Given the description of an element on the screen output the (x, y) to click on. 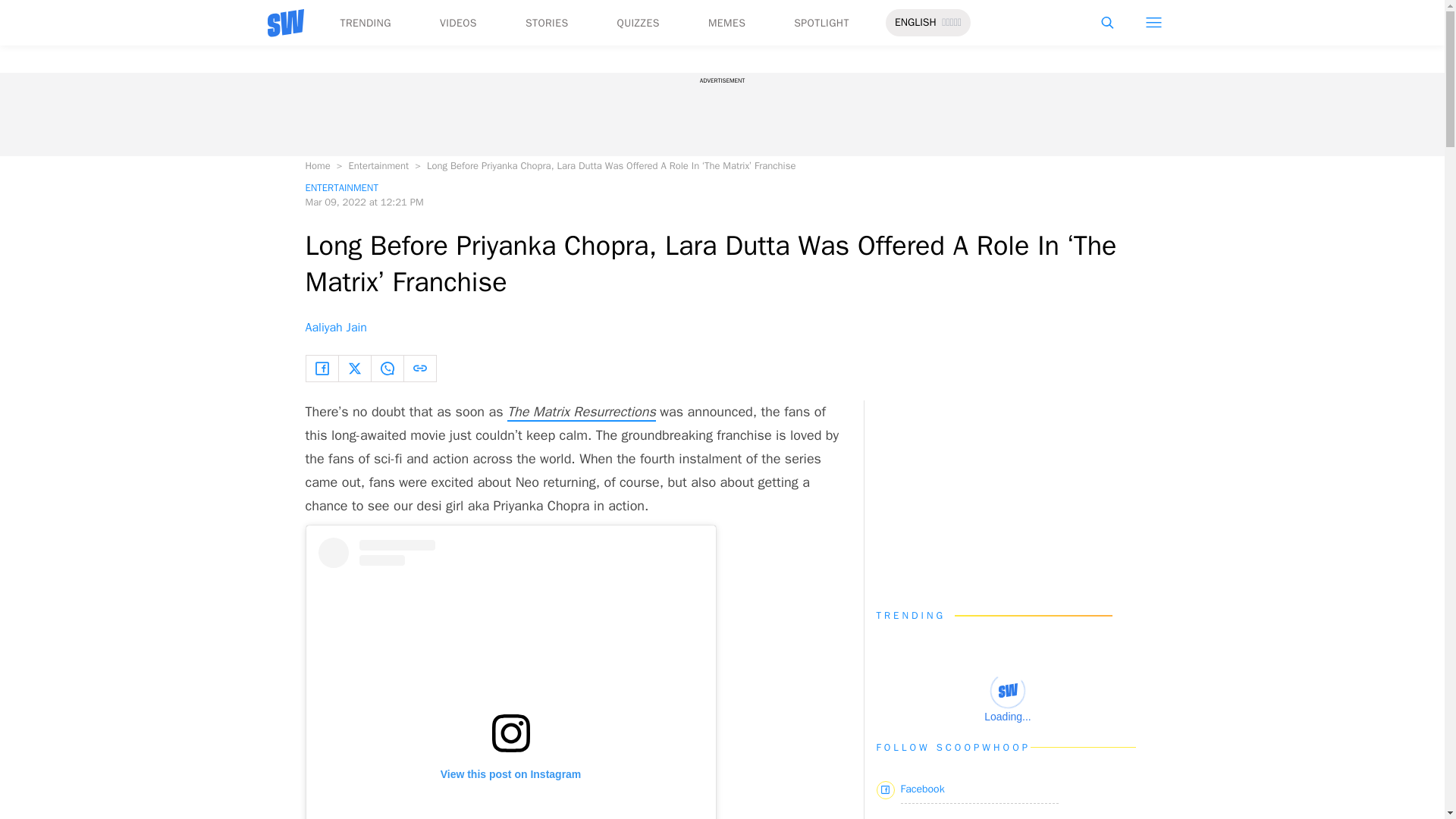
ENGLISH (915, 22)
STORIES (547, 22)
SPOTLIGHT (820, 22)
MEMES (726, 22)
QUIZZES (638, 22)
VIDEOS (458, 22)
TRENDING (364, 22)
